Given the description of an element on the screen output the (x, y) to click on. 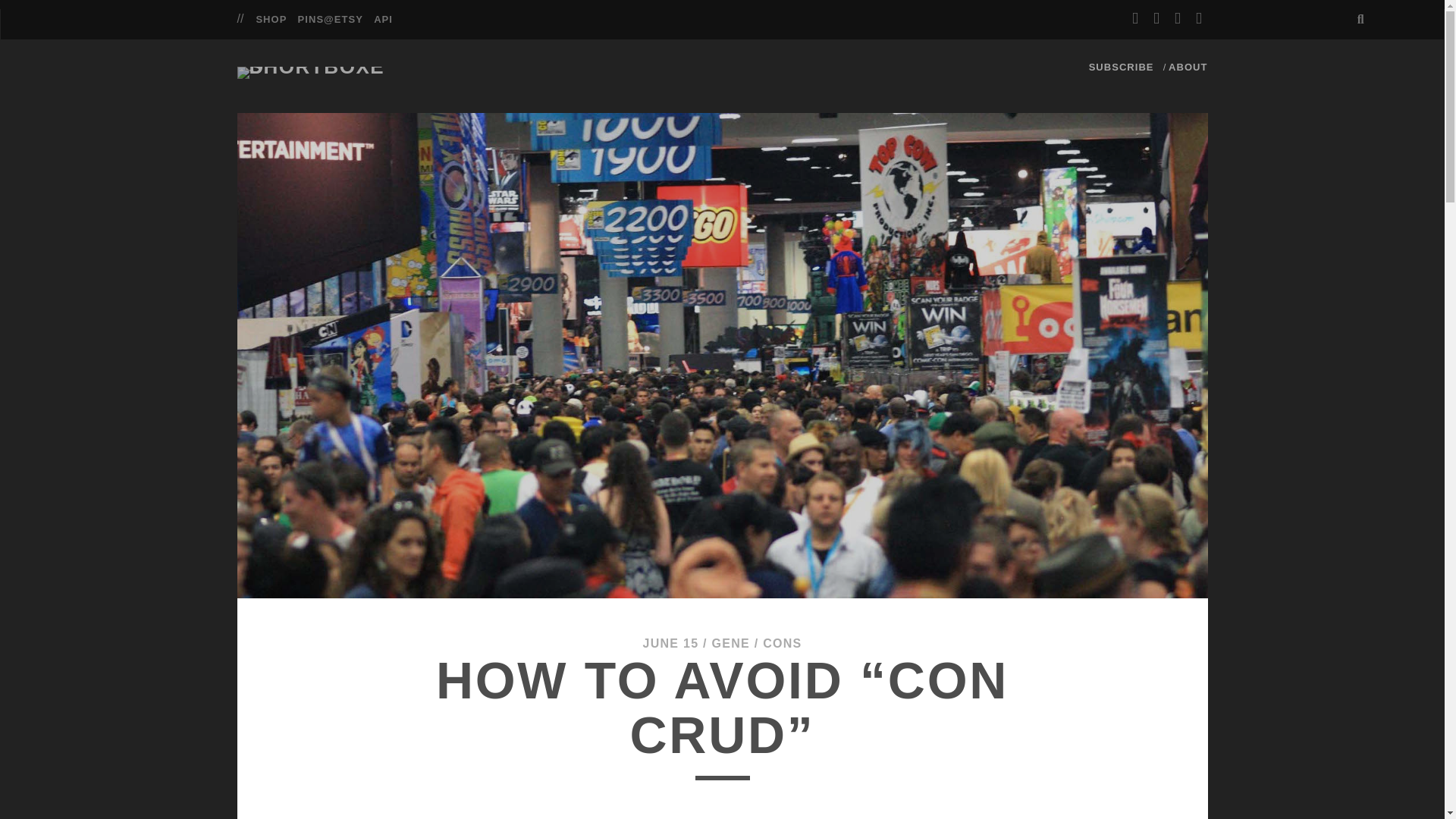
SHOP (271, 19)
CONS (782, 643)
API (383, 19)
GENE (730, 643)
SUBSCRIBE (1121, 67)
Posts by Gene (730, 643)
ABOUT (1188, 67)
